Given the description of an element on the screen output the (x, y) to click on. 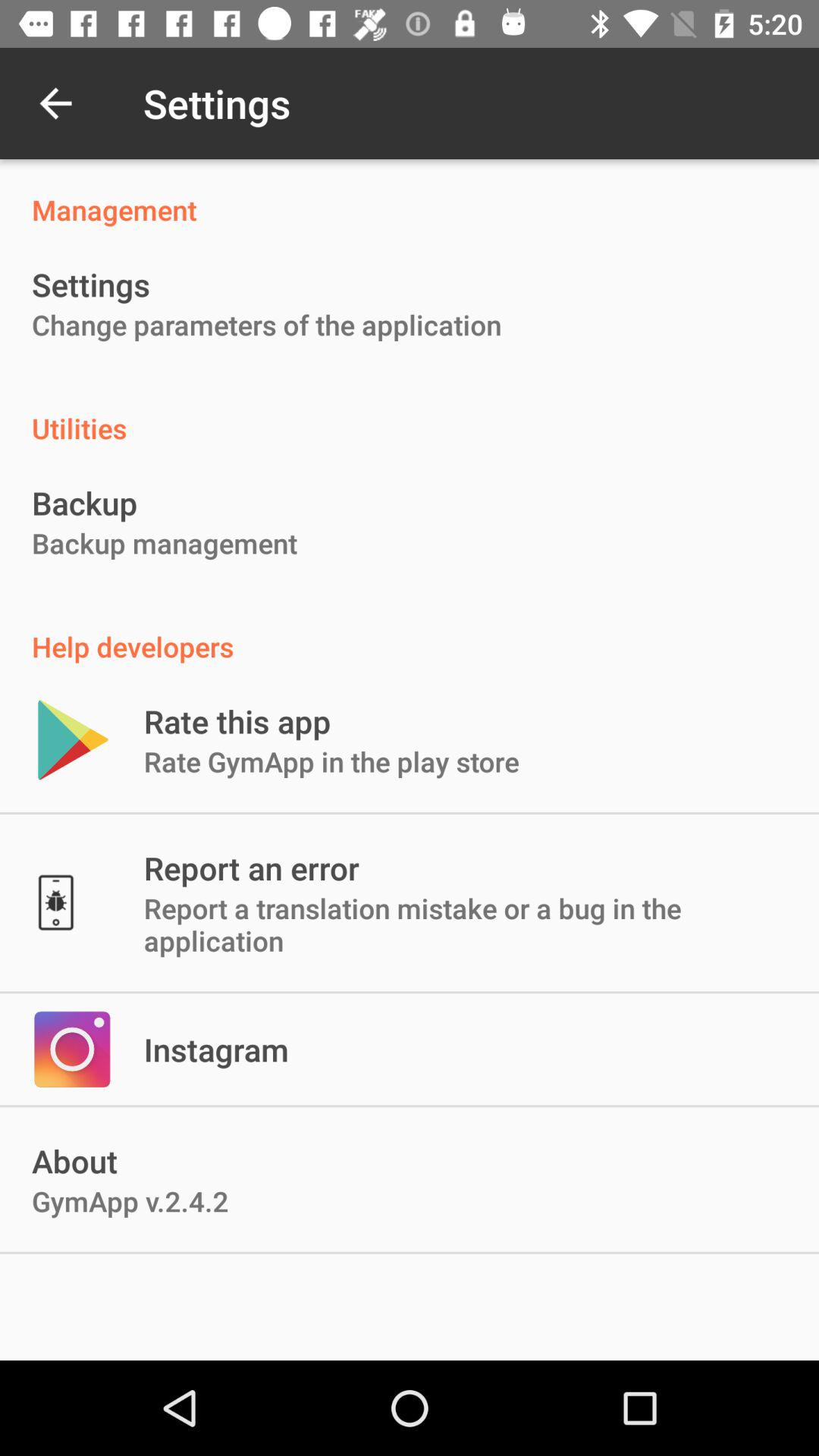
click the icon below the report a translation icon (215, 1048)
